Given the description of an element on the screen output the (x, y) to click on. 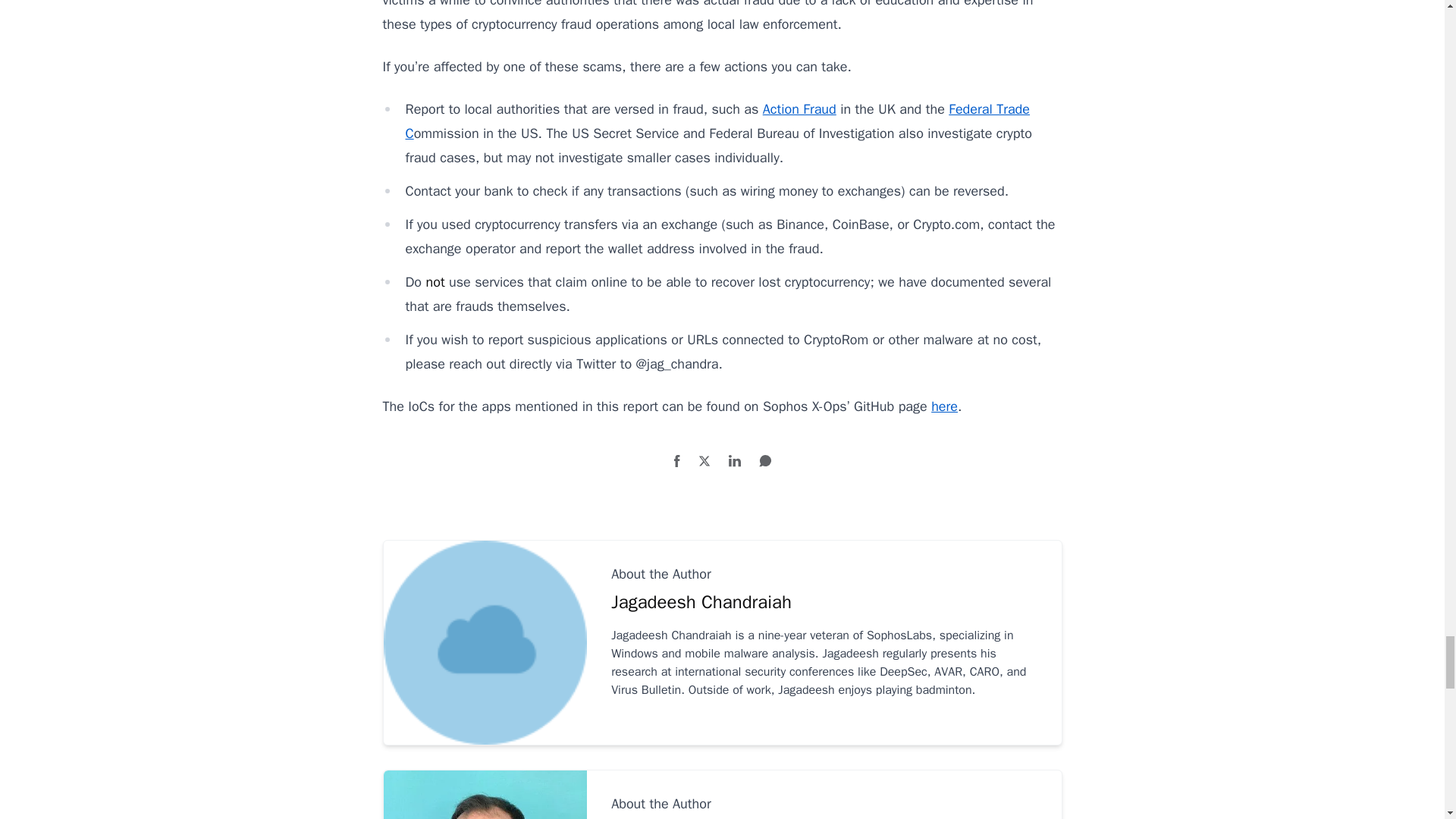
Share on LinkedIn (733, 460)
Leave a Reply (764, 460)
Share on X (703, 460)
Posts by Jagadeesh Chandraiah (823, 601)
